Given the description of an element on the screen output the (x, y) to click on. 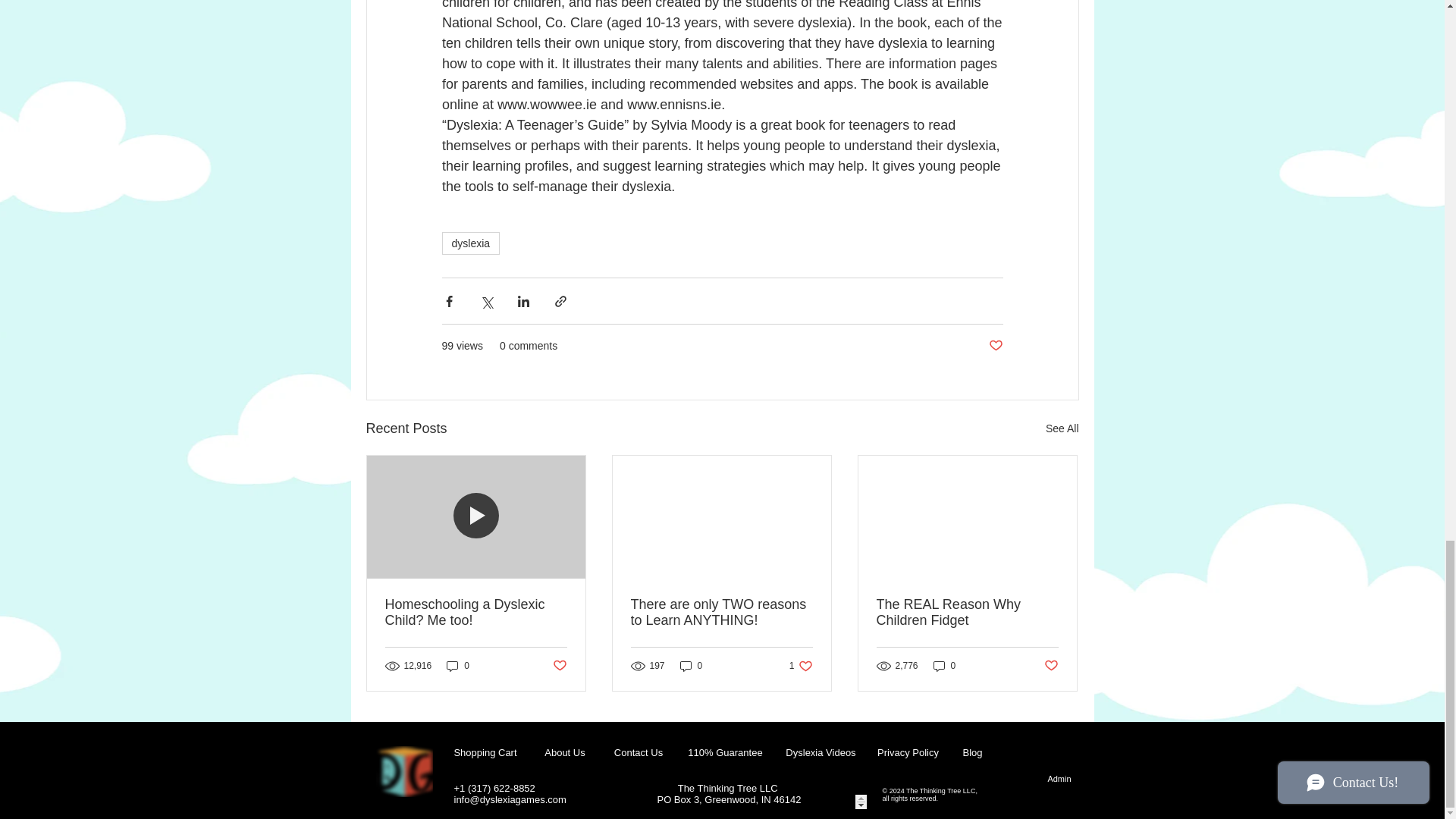
See All (1061, 428)
The REAL Reason Why Children Fidget (967, 612)
Post not marked as liked (1050, 666)
Post not marked as liked (995, 345)
Embedded Content (853, 801)
Contact Us (638, 753)
0 (800, 665)
dyslexia (457, 665)
0 (470, 242)
About Us (944, 665)
Embedded Content (564, 753)
0 (933, 777)
Post not marked as liked (691, 665)
Shopping Cart (558, 666)
